Given the description of an element on the screen output the (x, y) to click on. 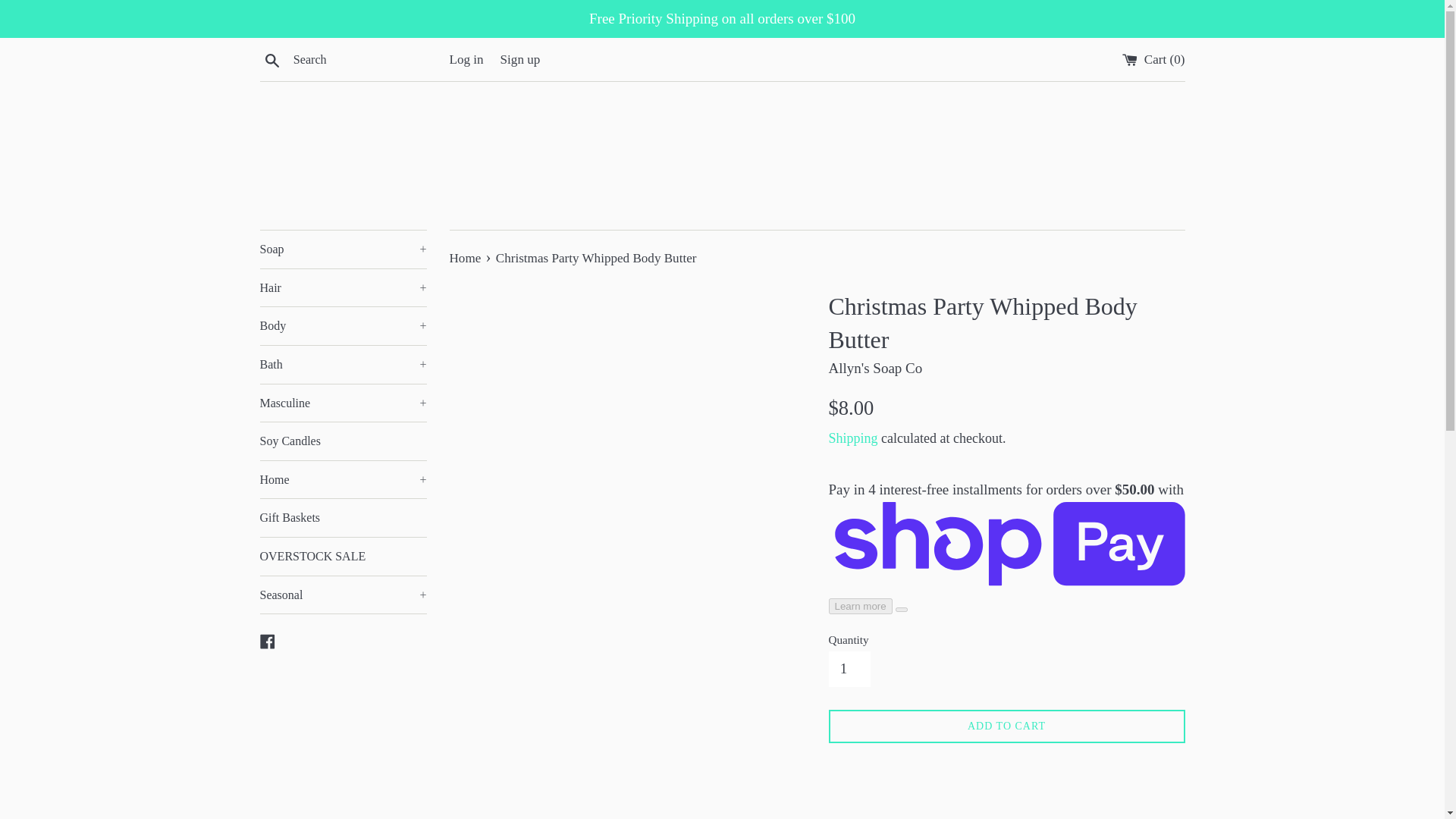
Back to the frontpage (465, 257)
Sign up (520, 59)
Search (271, 58)
Log in (465, 59)
Soy Candles (342, 441)
OVERSTOCK SALE (342, 556)
Allyn's Soap Co on Facebook (267, 639)
Gift Baskets (342, 517)
1 (848, 668)
